Given the description of an element on the screen output the (x, y) to click on. 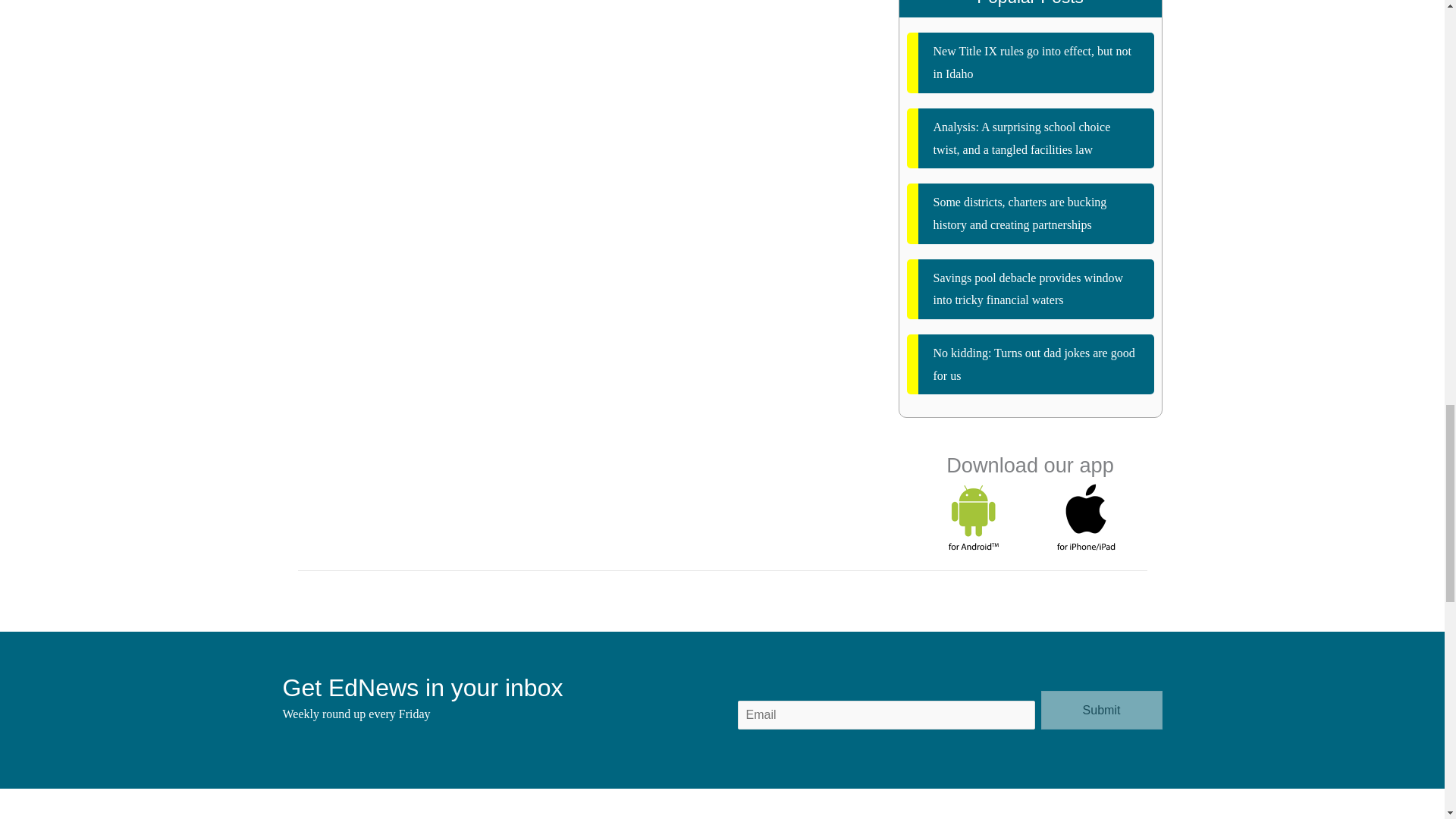
No kidding: Turns out dad jokes are good for us (1030, 363)
New Title IX rules go into effect, but not in Idaho (1030, 62)
